Given the description of an element on the screen output the (x, y) to click on. 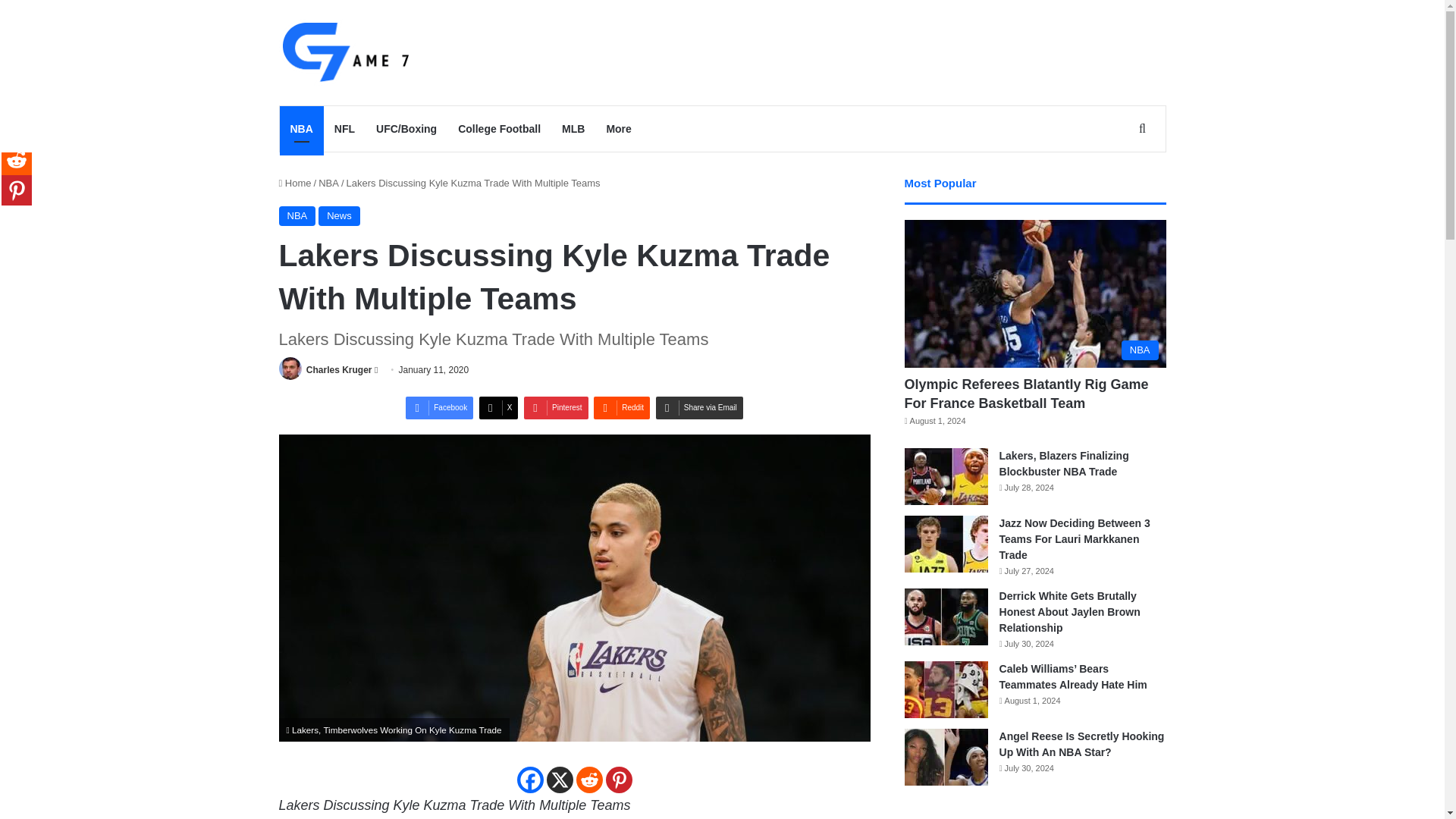
More (618, 128)
Pinterest (556, 407)
NFL (344, 128)
Facebook (439, 407)
News (338, 216)
X (498, 407)
College Football (498, 128)
Pinterest (556, 407)
Share via Email (699, 407)
Home (295, 183)
Reddit (621, 407)
NBA (297, 216)
Reddit (621, 407)
Charles Kruger (338, 369)
X (559, 779)
